Given the description of an element on the screen output the (x, y) to click on. 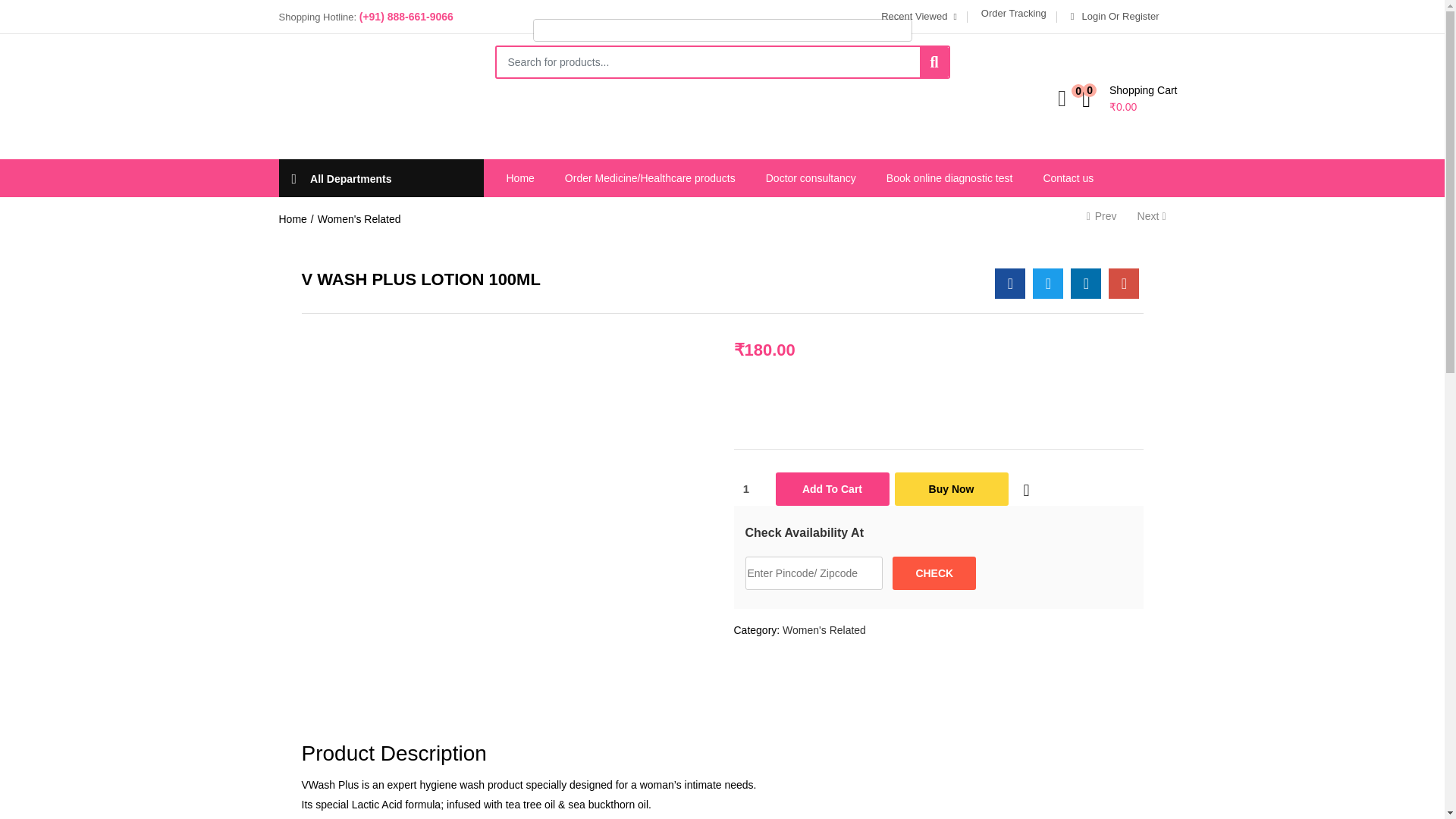
View your shopping cart (1128, 98)
CHECK (933, 572)
V WASH PLUS LOTION 100ML (1123, 283)
Wishlist (1026, 489)
V WASH PLUS LOTION 100ML (1009, 283)
1 (751, 488)
